Given the description of an element on the screen output the (x, y) to click on. 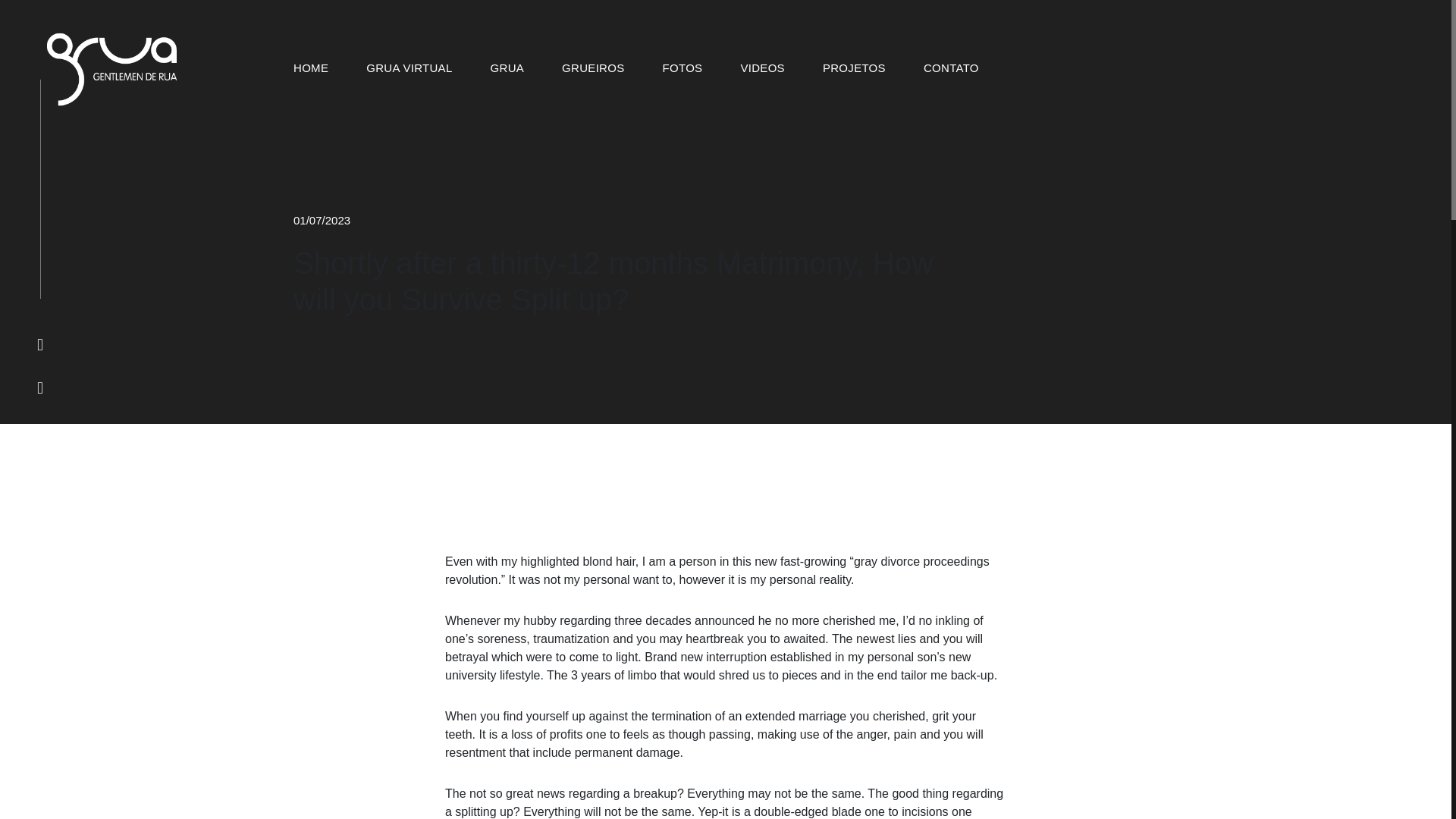
CONTATO (950, 68)
GRUA VIRTUAL (408, 68)
PROJETOS (853, 68)
GRUEIROS (593, 68)
